Given the description of an element on the screen output the (x, y) to click on. 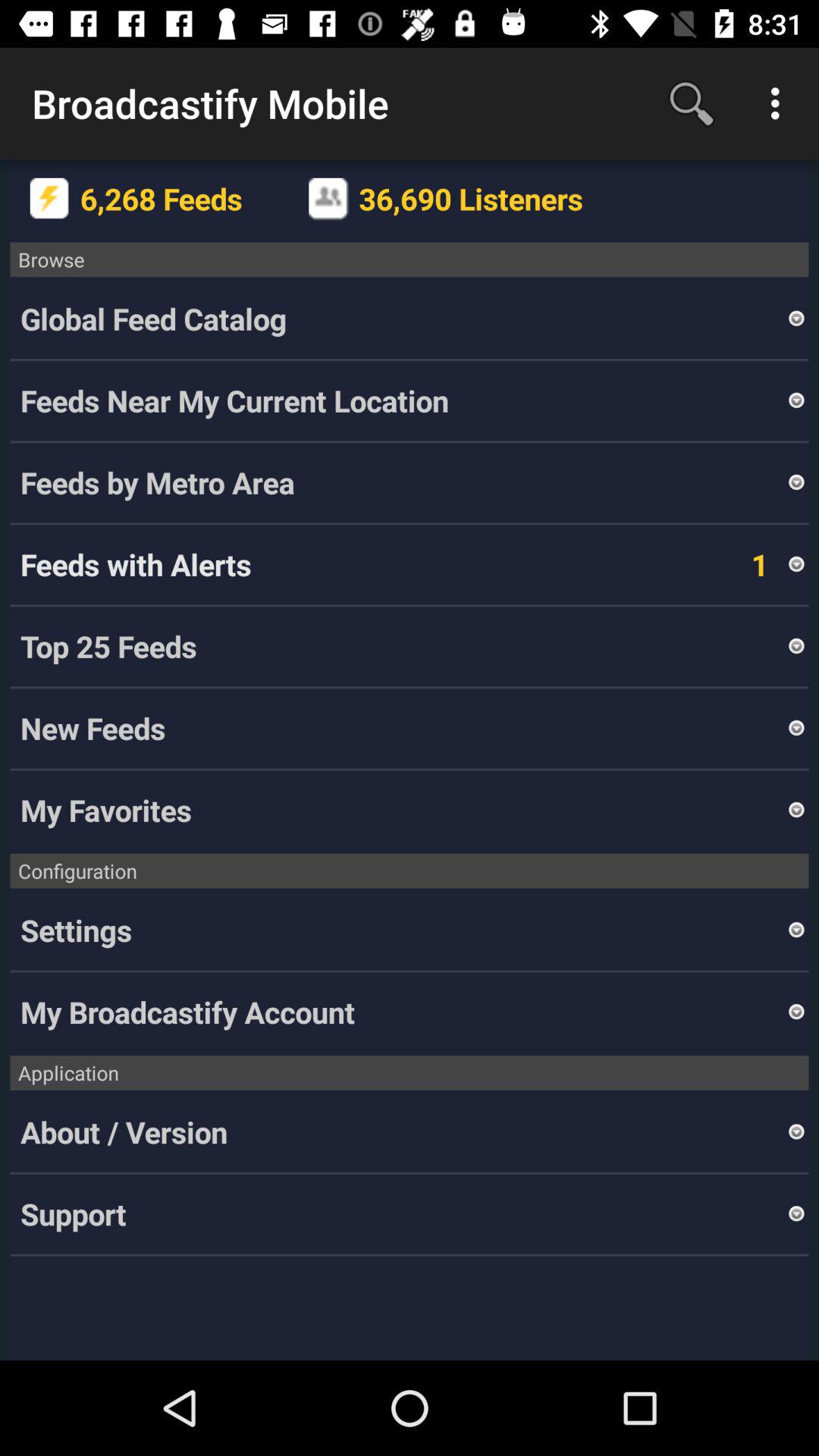
click the item below the broadcastify mobile item (49, 199)
